Given the description of an element on the screen output the (x, y) to click on. 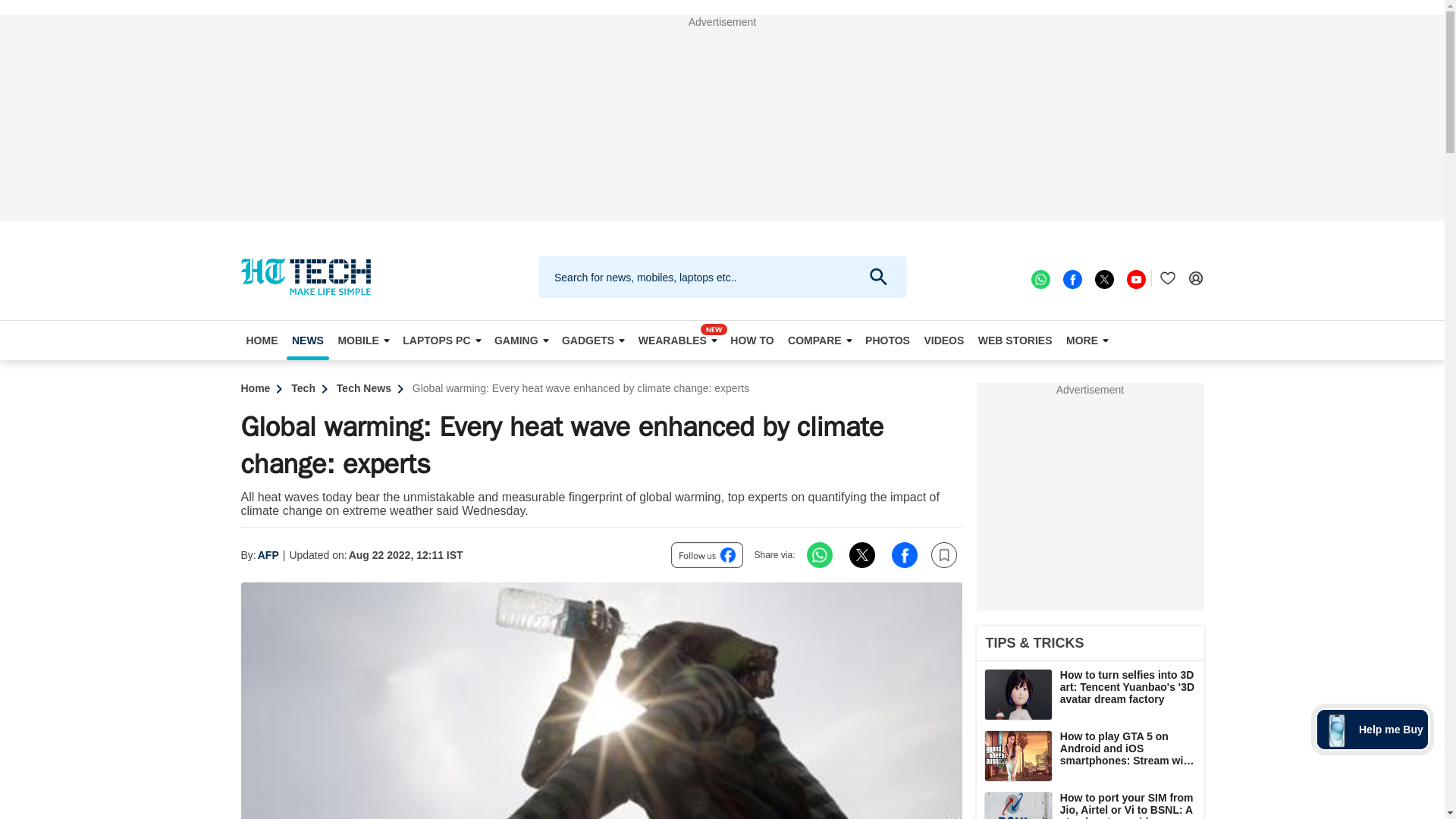
twitter (1103, 278)
HOME (262, 340)
GADGETS (592, 340)
NEWS (307, 340)
HOW TO (751, 340)
Login (1196, 278)
COMPARE (820, 340)
WEARABLES (677, 340)
